Given the description of an element on the screen output the (x, y) to click on. 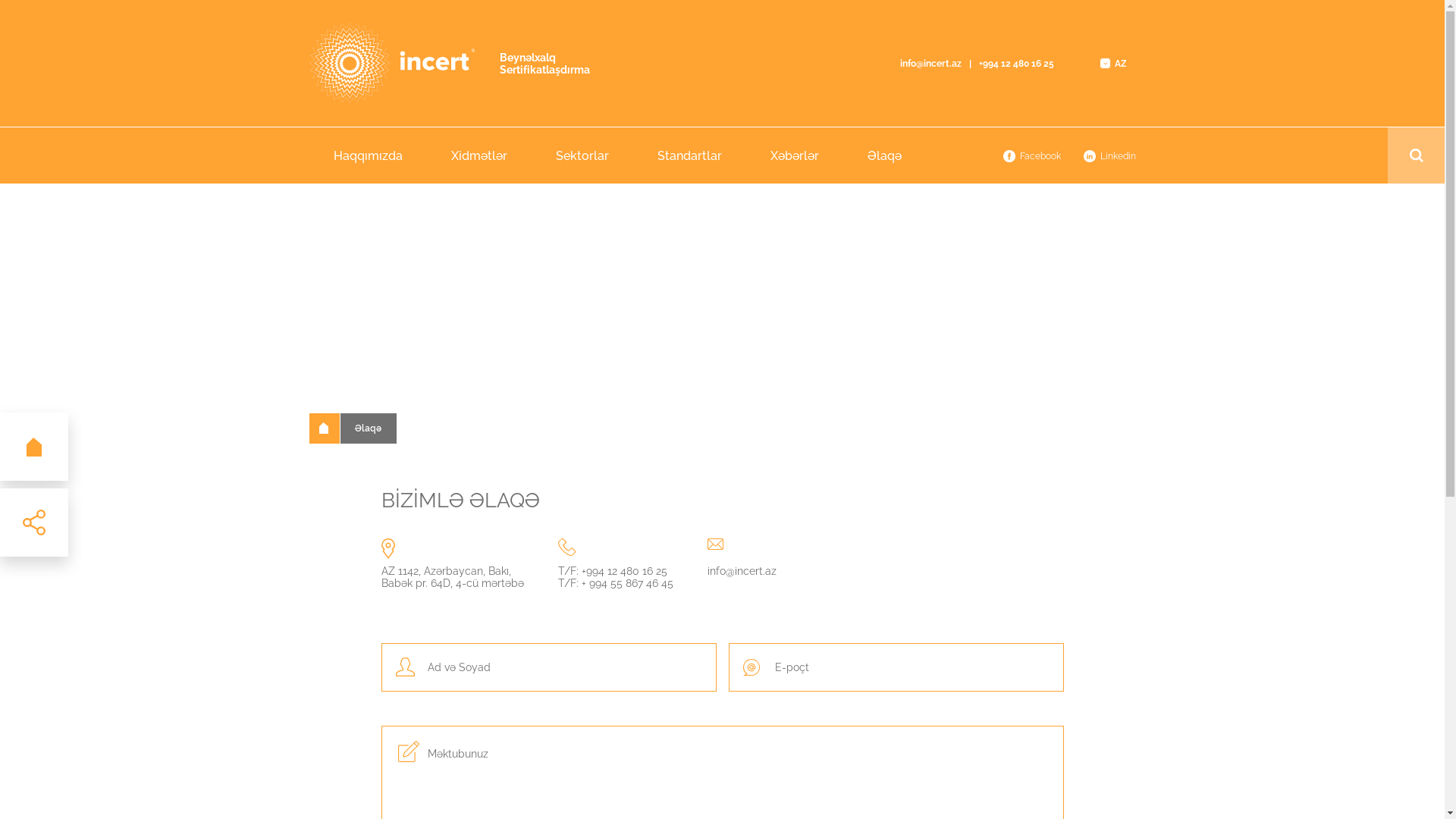
+994 12 480 16 25 Element type: text (1015, 62)
+994 12 480 16 25 Element type: text (623, 570)
info@incert.az Element type: text (929, 62)
Standartlar Element type: text (688, 155)
info@incert.az Element type: text (740, 570)
Facebook Element type: text (1031, 155)
Sektorlar Element type: text (581, 155)
+ 994 55 867 46 45 Element type: text (626, 583)
Linkedin Element type: text (1108, 155)
